Given the description of an element on the screen output the (x, y) to click on. 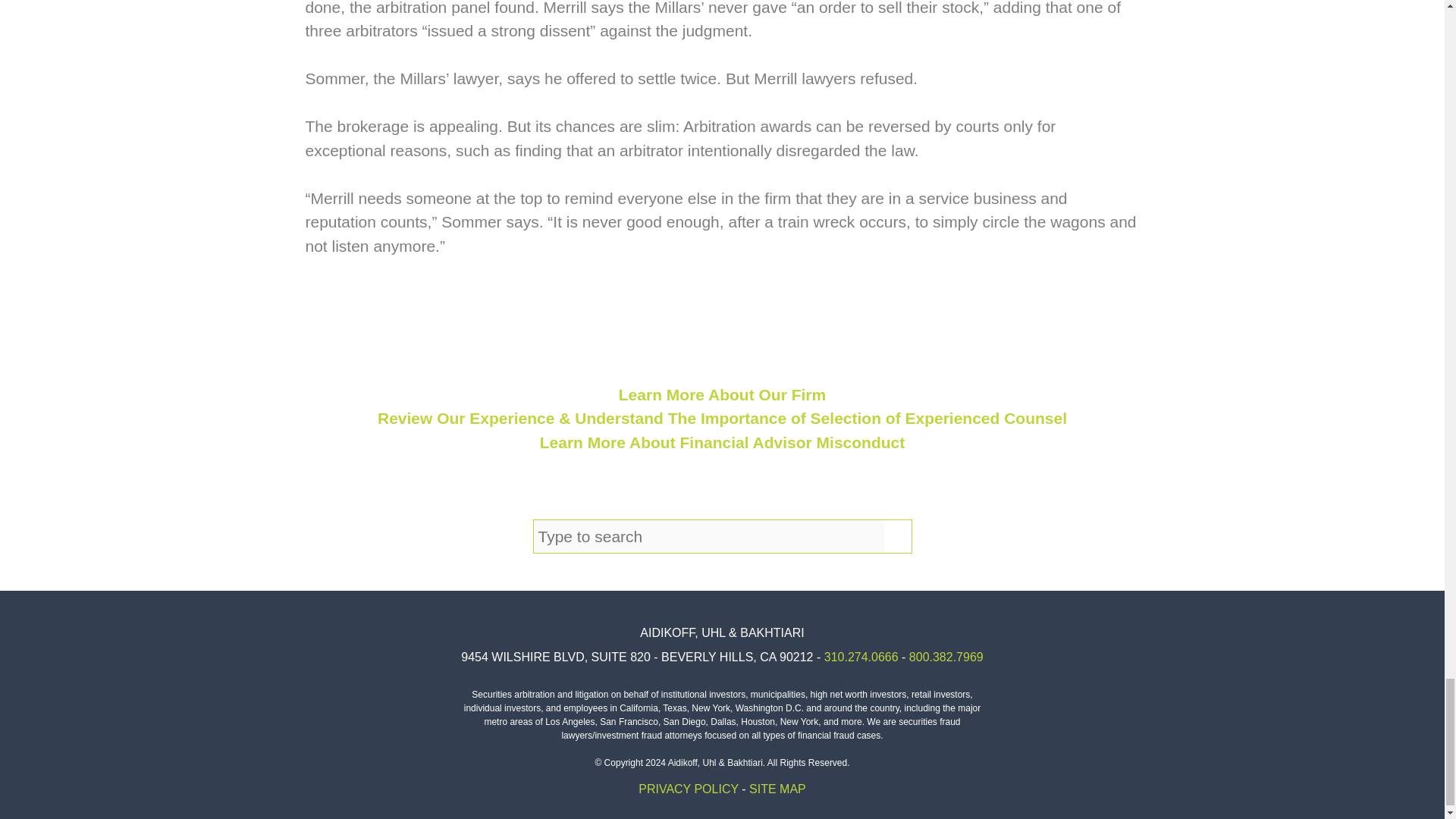
PRIVACY POLICY (688, 788)
310.274.0666 (861, 656)
Learn More About Our Firm (721, 394)
Facebook (689, 490)
Learn More About Financial Advisor Misconduct (722, 442)
SITE MAP (777, 788)
Twitter (721, 490)
800.382.7969 (946, 656)
LinkedIn (754, 490)
